Given the description of an element on the screen output the (x, y) to click on. 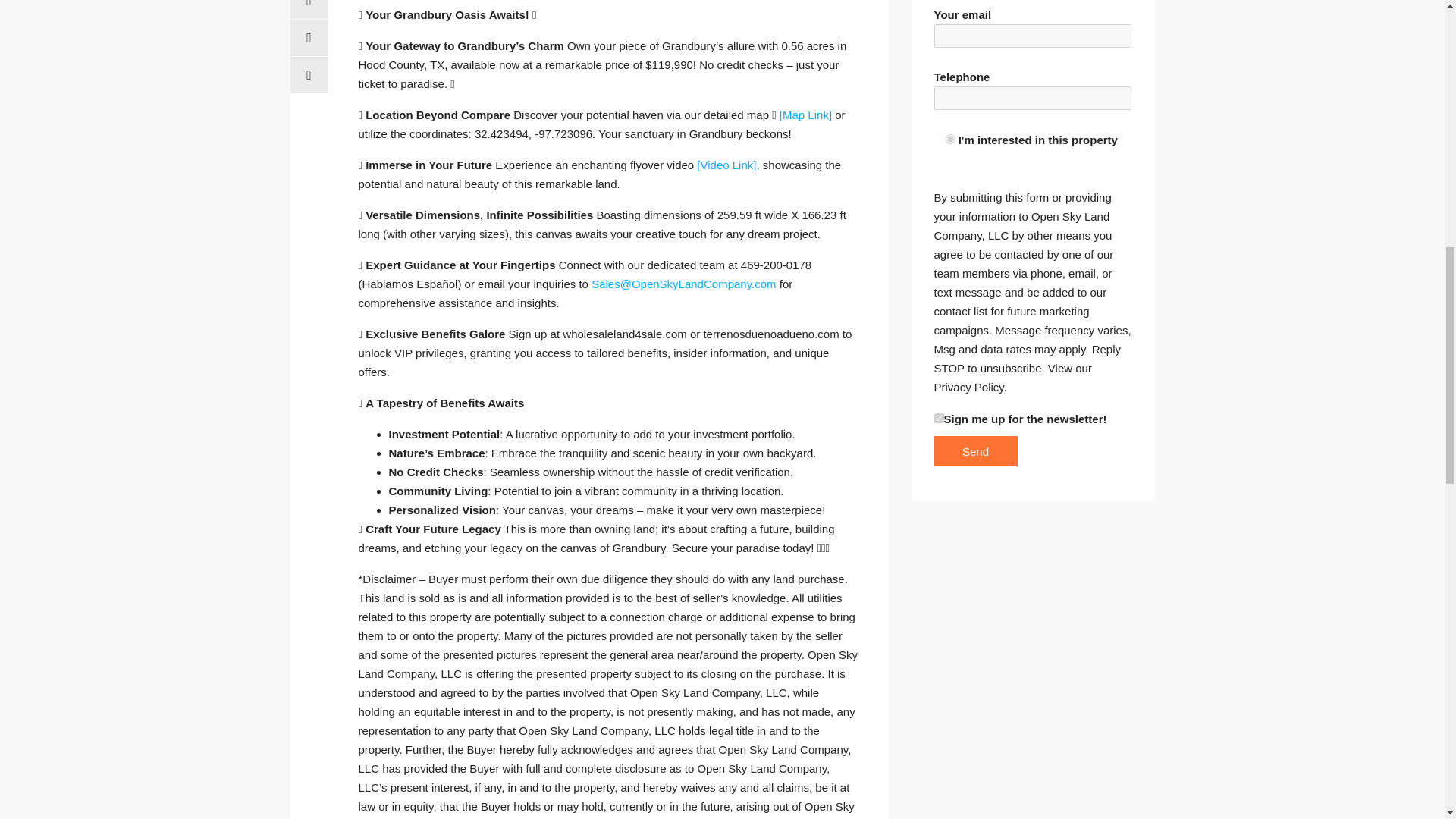
Send (975, 450)
I'm interested in this property (949, 139)
1 (938, 418)
